Given the description of an element on the screen output the (x, y) to click on. 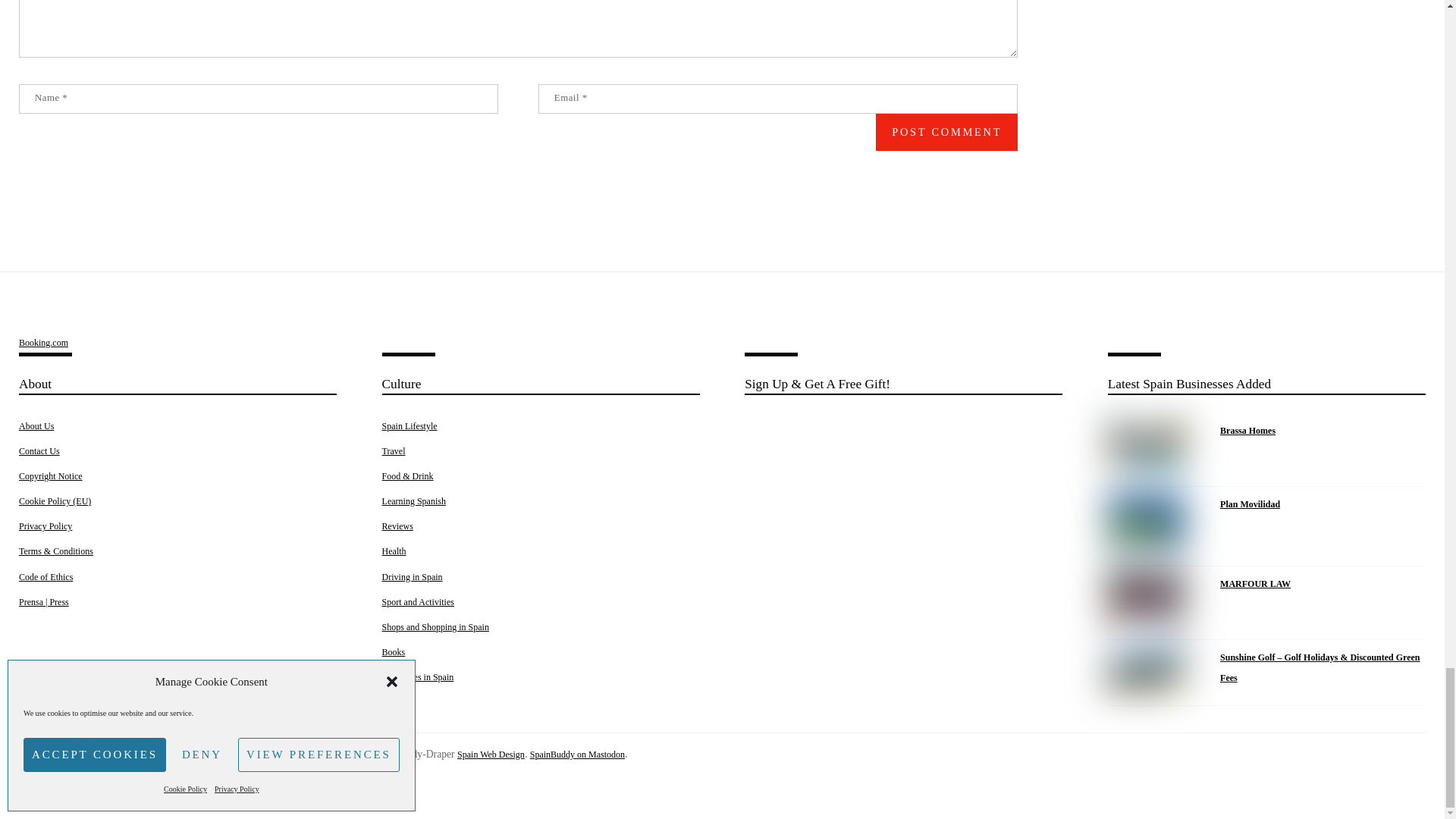
Post Comment (946, 131)
